Given the description of an element on the screen output the (x, y) to click on. 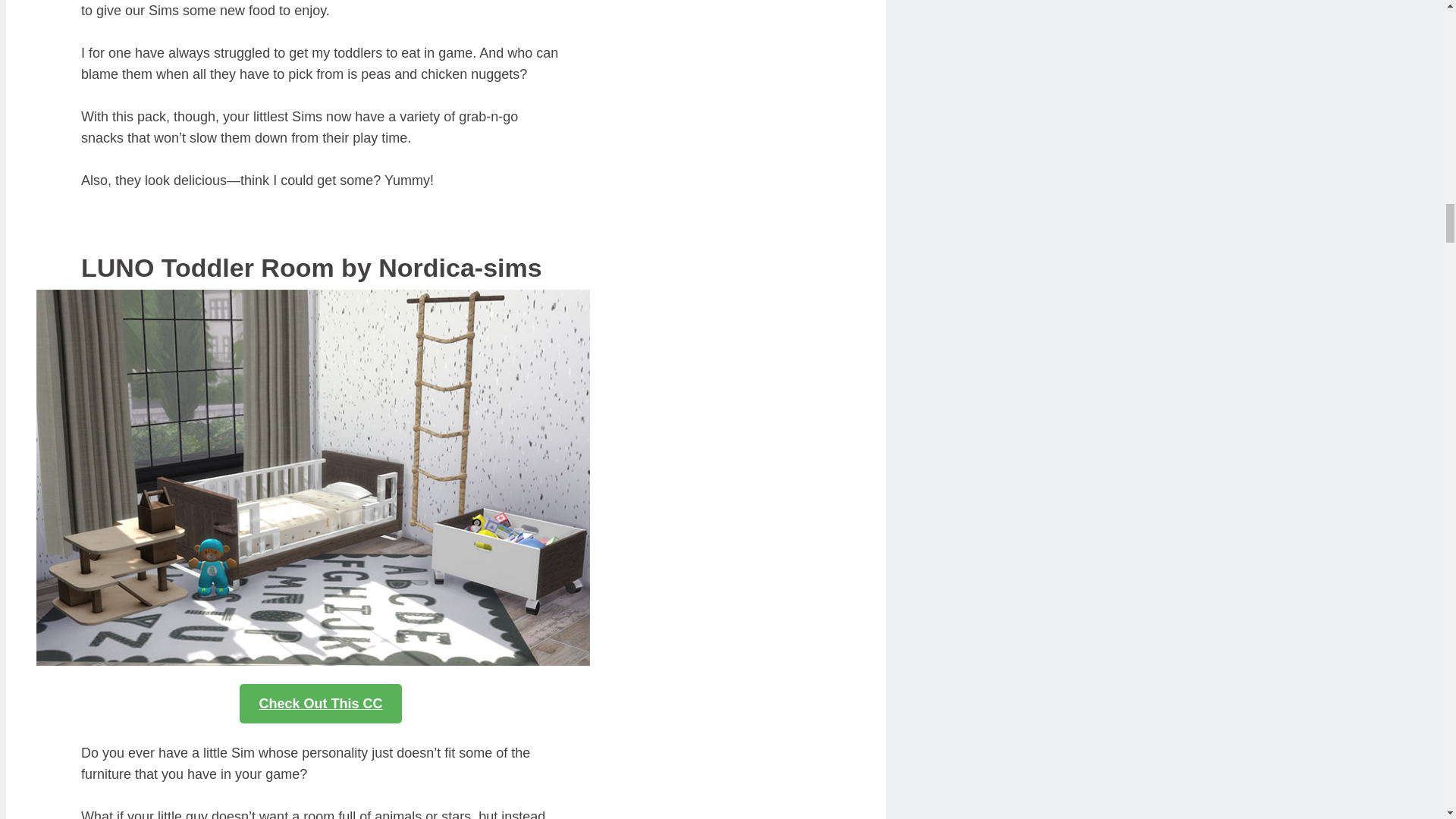
Check Out This CC (320, 703)
